Given the description of an element on the screen output the (x, y) to click on. 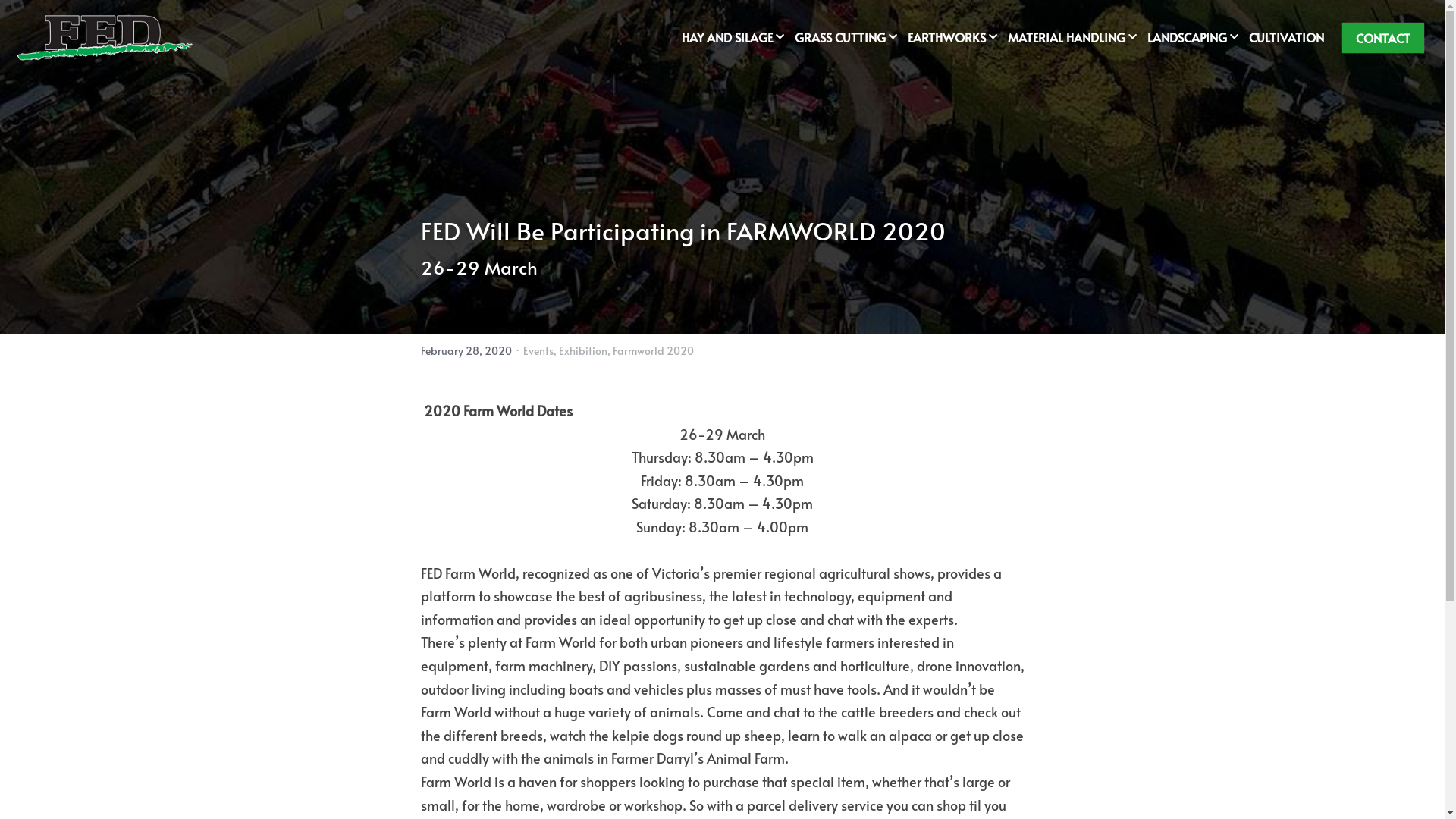
Farming Equipment Distributors Logo Element type: hover (103, 37)
CONTACT Element type: text (1383, 37)
CULTIVATION Element type: text (1286, 37)
